Given the description of an element on the screen output the (x, y) to click on. 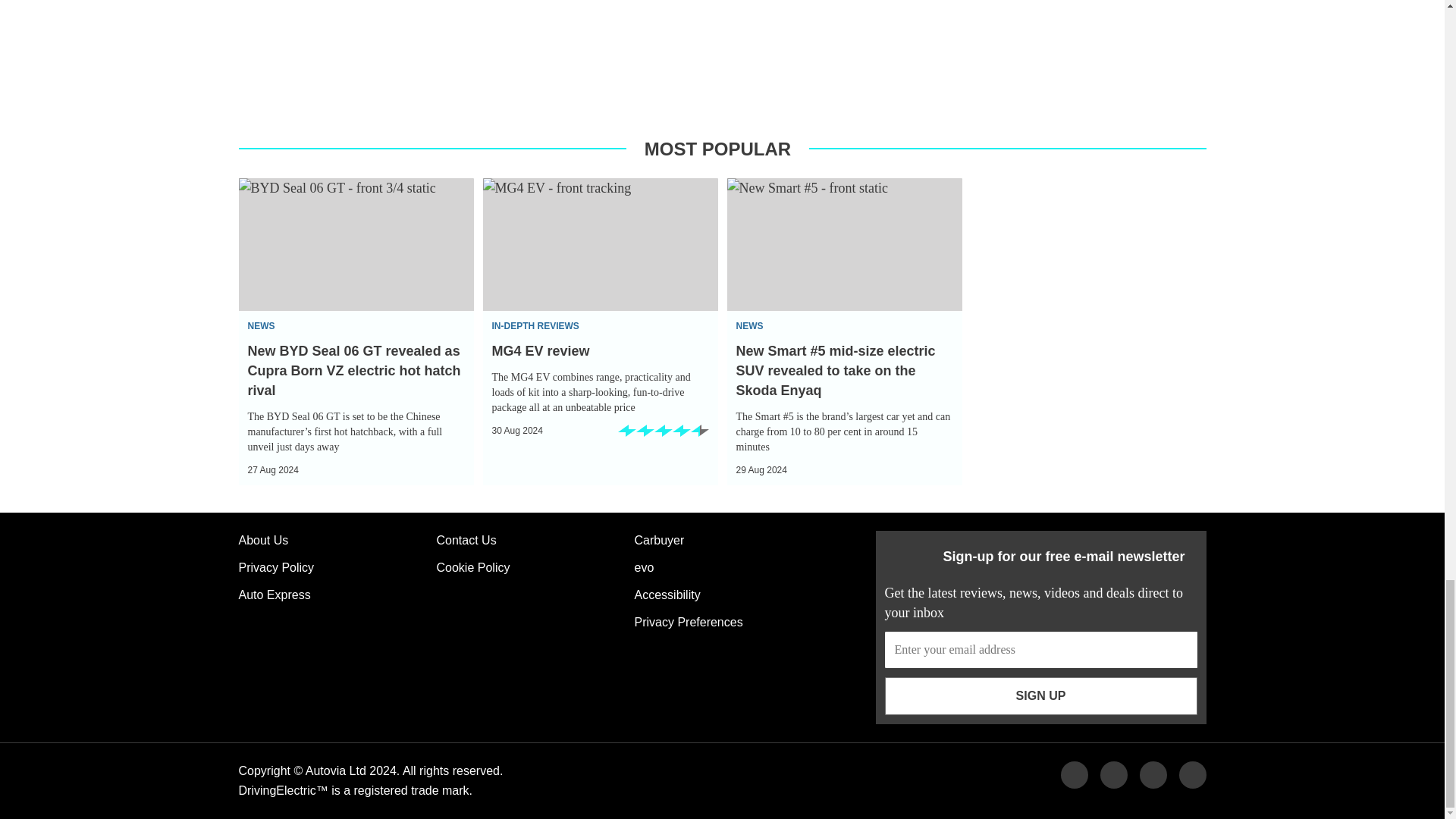
Subscribe (1039, 649)
Subscribe (1039, 695)
4.5 Stars (662, 436)
